Given the description of an element on the screen output the (x, y) to click on. 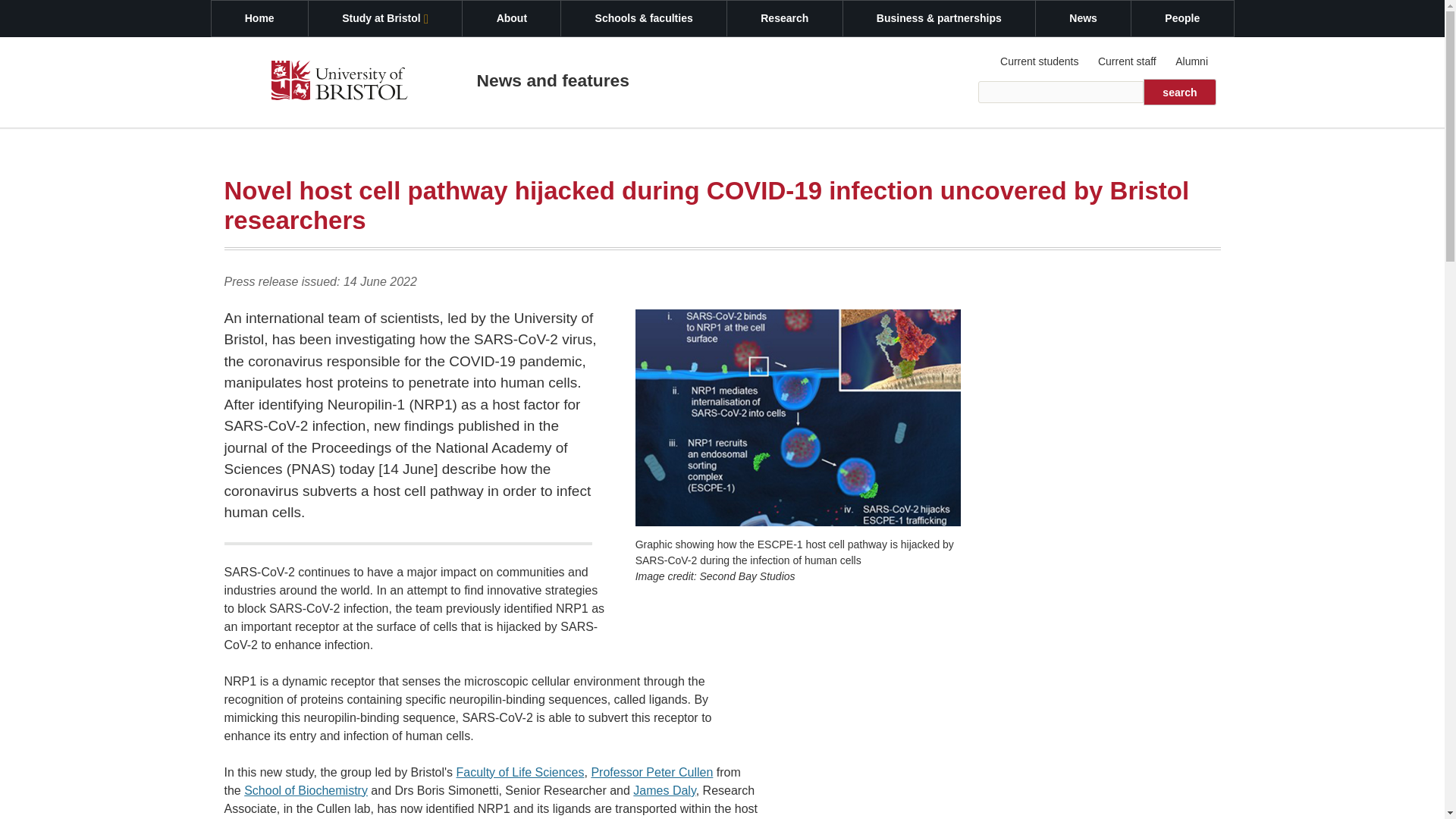
Home (259, 18)
Research (784, 18)
Current students (1039, 61)
People (1182, 18)
James Daly (664, 789)
Homepage (338, 82)
About (511, 18)
enter search keywords (1061, 92)
Professor Peter Cullen (652, 771)
News (1083, 18)
